Given the description of an element on the screen output the (x, y) to click on. 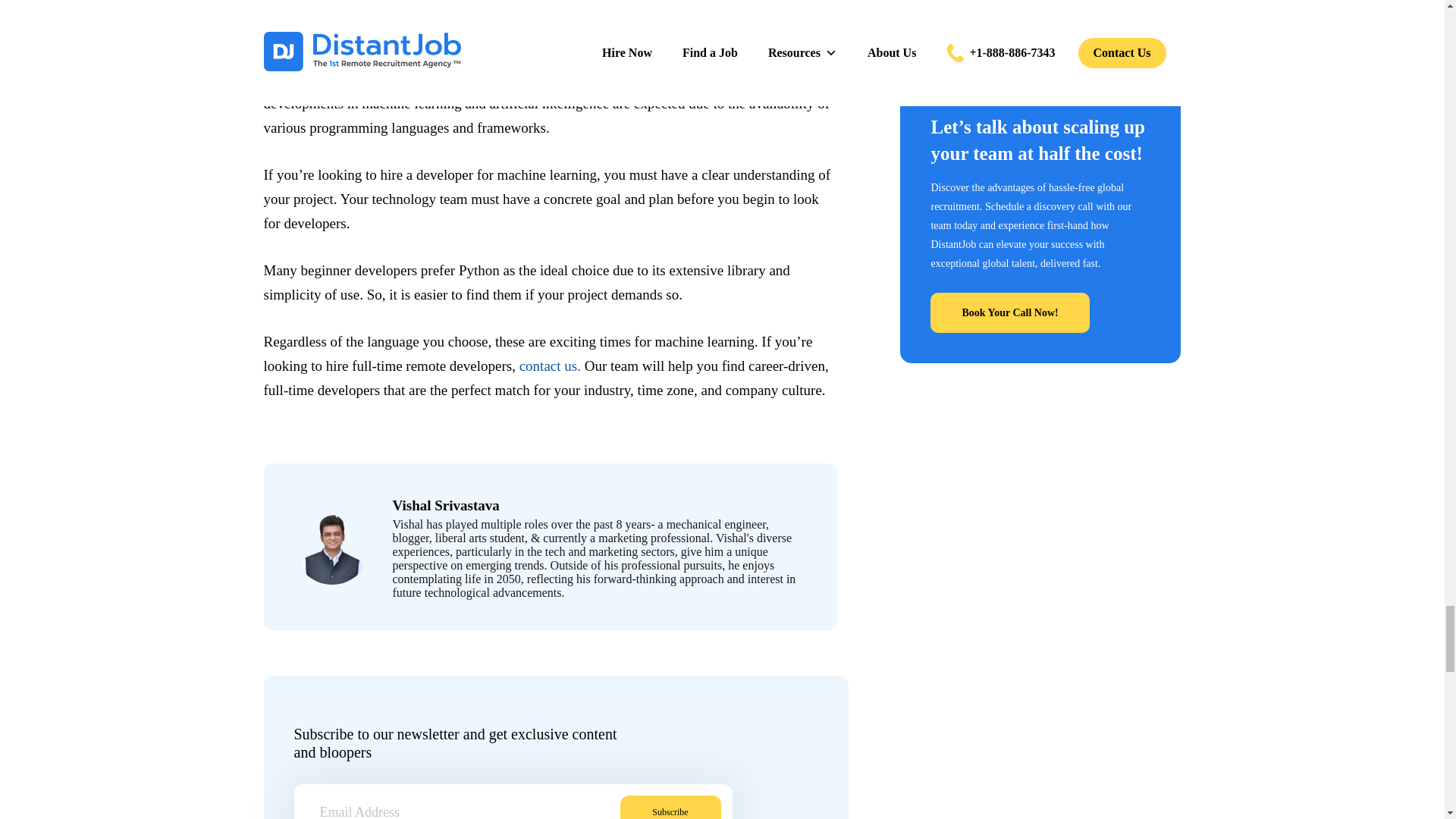
Subscribe (670, 807)
